Given the description of an element on the screen output the (x, y) to click on. 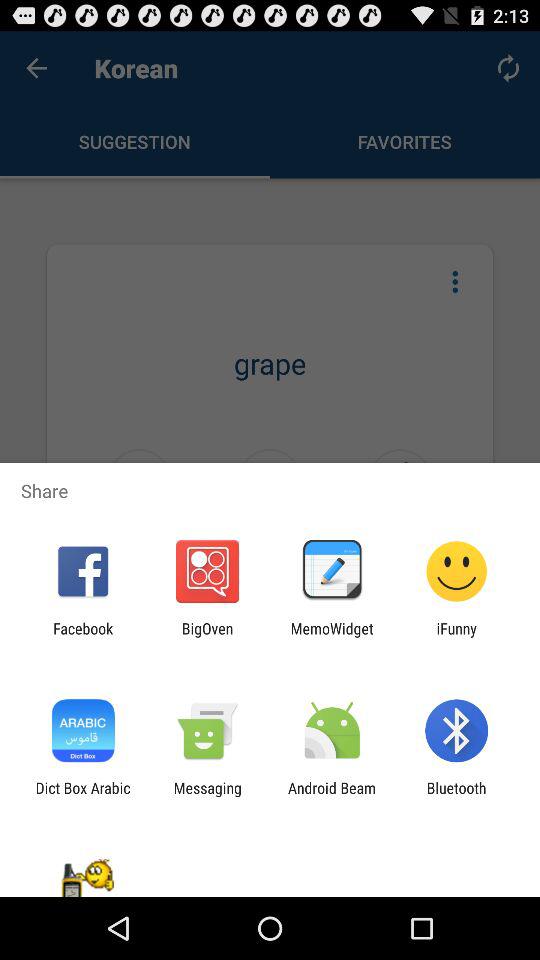
launch the app to the left of the bluetooth (332, 796)
